Given the description of an element on the screen output the (x, y) to click on. 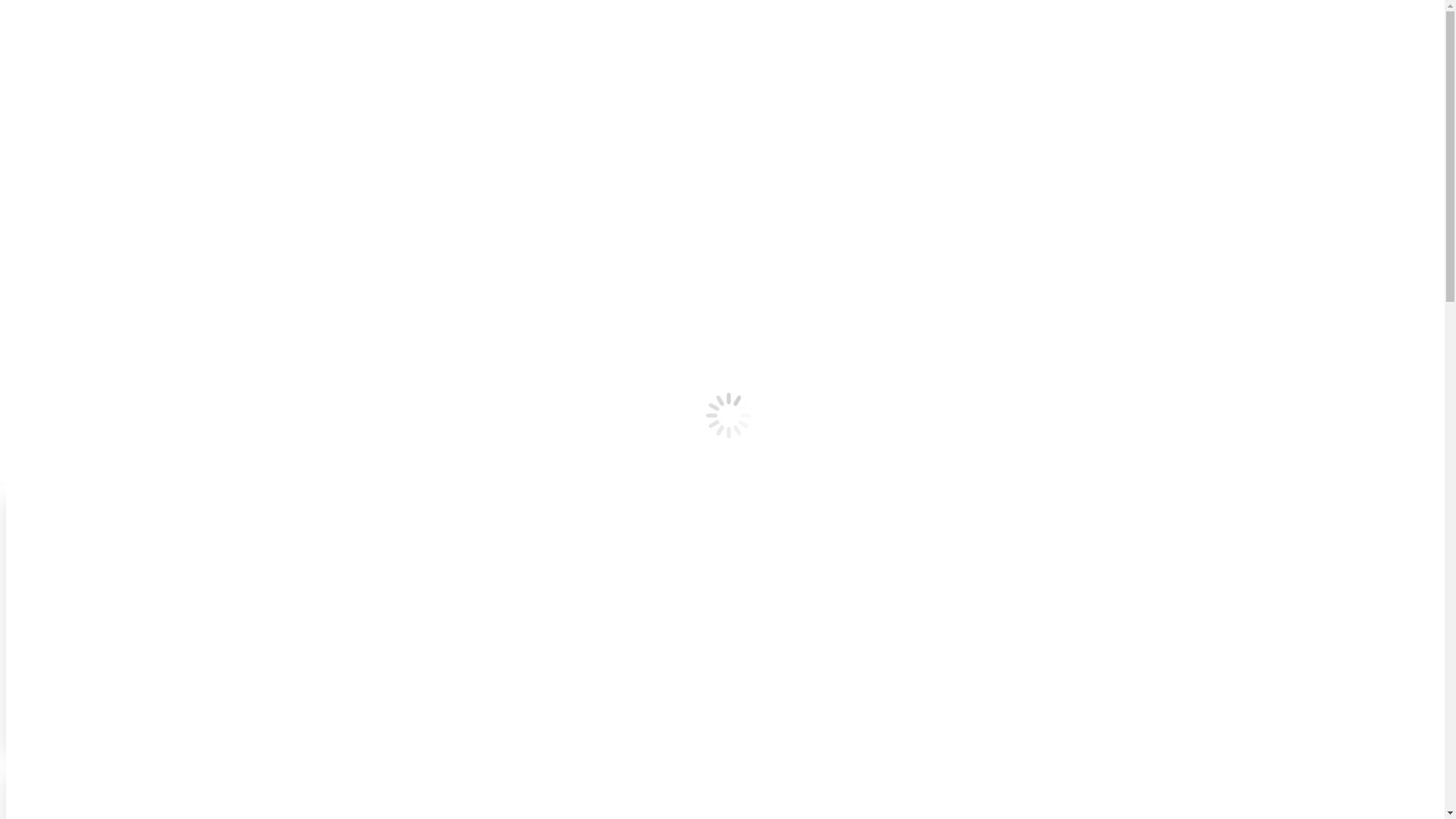
NewHome Open Element type: text (238, 572)
CONTACT Element type: text (34, 209)
Virtual Tours Element type: text (68, 276)
Facebook page opens in new window Element type: text (12, 223)
Home Open Element type: text (1209, 572)
Lot 811 Speewah, Mount Peter QLD 4869 Element type: text (238, 691)
Virtual Tours Element type: text (68, 156)
Lot 818 Lochern Elbow, Mount Peter QLD 4869 Element type: text (1209, 691)
About Element type: text (51, 128)
Skip to content Element type: text (5, 5)
Lot 846 Speewah Bend, Mount Peter QLD 4869 Element type: text (725, 691)
News Element type: text (49, 304)
Location Element type: text (57, 263)
About Element type: text (51, 249)
For Sale Element type: text (56, 169)
Home Open Element type: text (725, 572)
News Element type: text (49, 183)
Location Element type: text (57, 142)
Home Element type: text (50, 404)
For Sale Element type: text (56, 290)
